Given the description of an element on the screen output the (x, y) to click on. 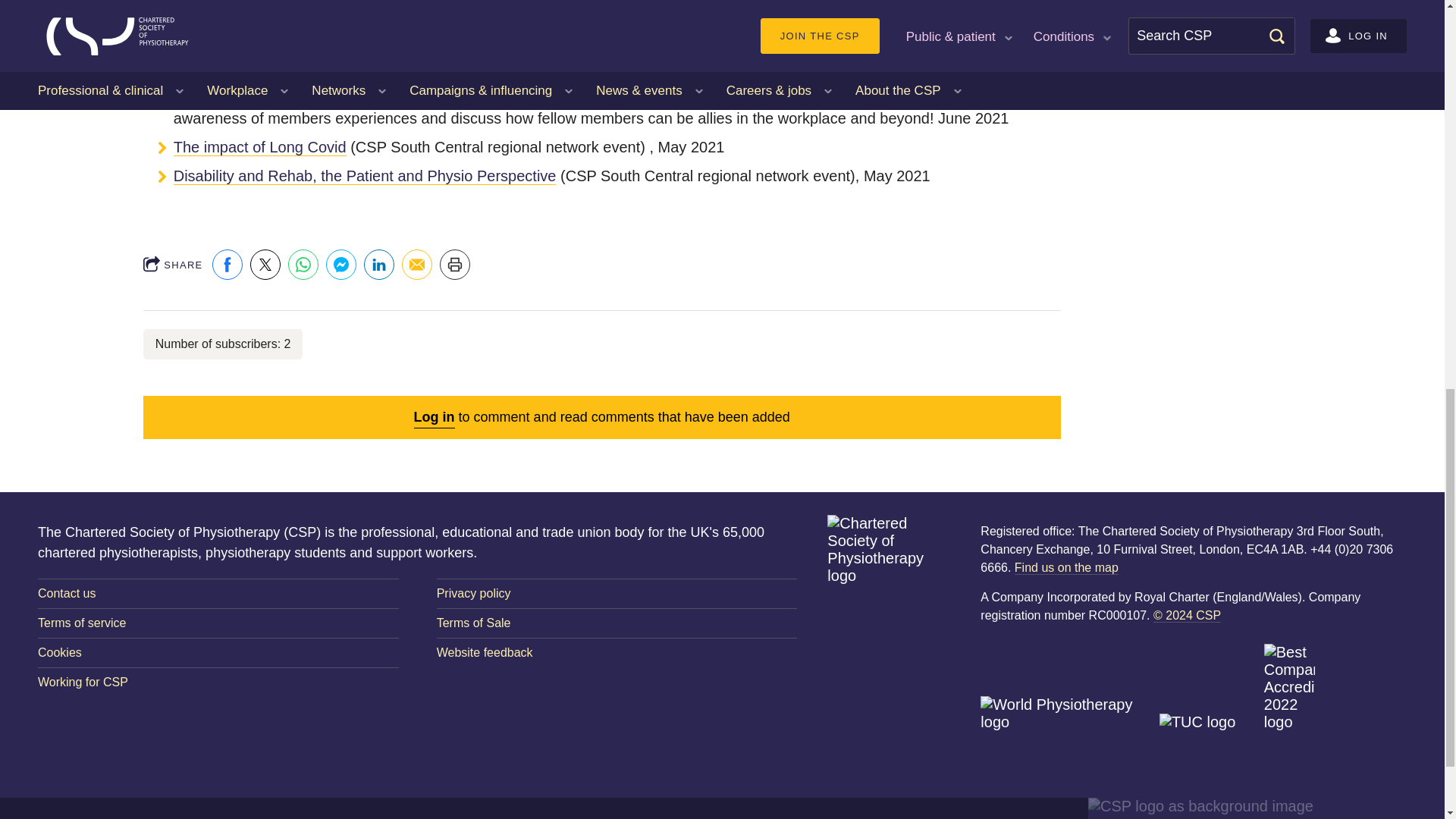
WhatsApp (303, 264)
Linkedin (379, 264)
Facebook (227, 264)
World Physiotherapy (1066, 730)
Webform for contacting the CSP. (217, 593)
The CSP-wide privacy policy (616, 593)
Facebook messenger (341, 264)
Email (416, 264)
